Given the description of an element on the screen output the (x, y) to click on. 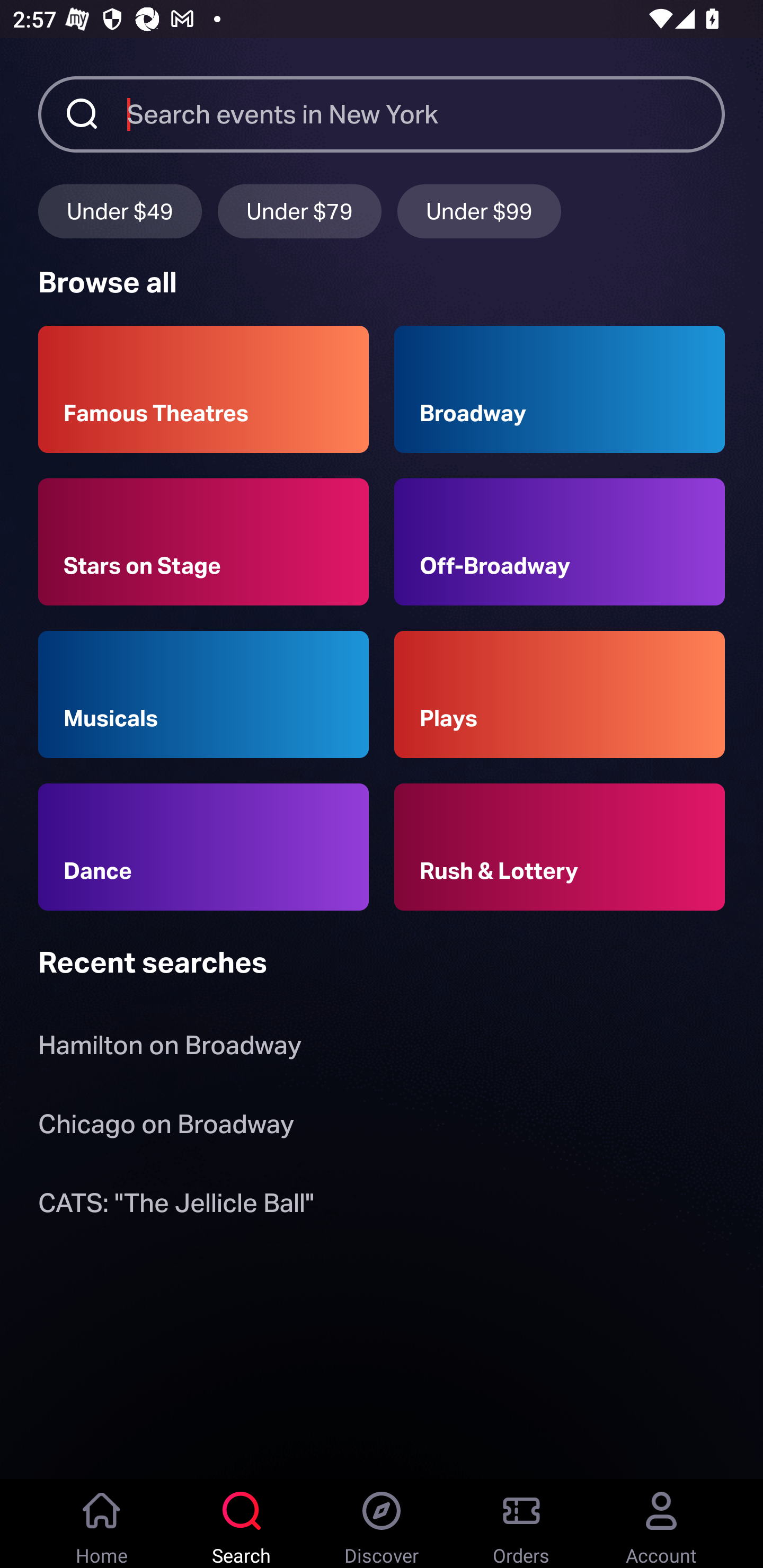
Search events in New York (425, 113)
Under $49 (120, 211)
Under $79 (299, 211)
Under $99 (478, 211)
Famous Theatres (203, 389)
Broadway (559, 389)
Stars on Stage (203, 541)
Off-Broadway (559, 541)
Musicals (203, 693)
Plays (559, 693)
Dance (203, 847)
Rush & Lottery (559, 847)
Hamilton on Broadway (169, 1048)
Chicago on Broadway (165, 1127)
CATS: "The Jellicle Ball" (176, 1205)
Home (101, 1523)
Discover (381, 1523)
Orders (521, 1523)
Account (660, 1523)
